Given the description of an element on the screen output the (x, y) to click on. 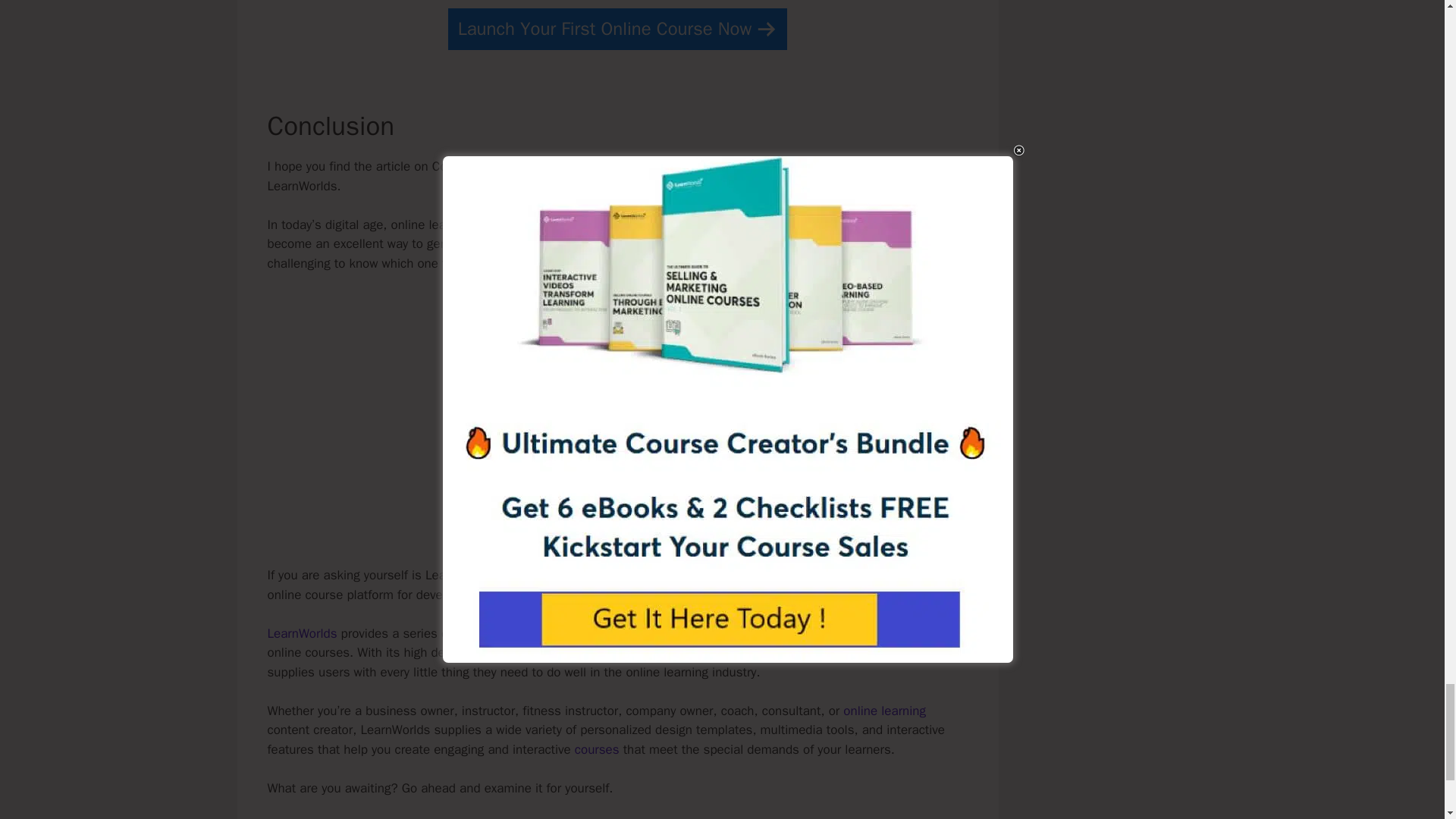
online learning (884, 710)
courses (597, 749)
LearnWorlds (301, 633)
Launch Your First Online Course Now (617, 28)
